Given the description of an element on the screen output the (x, y) to click on. 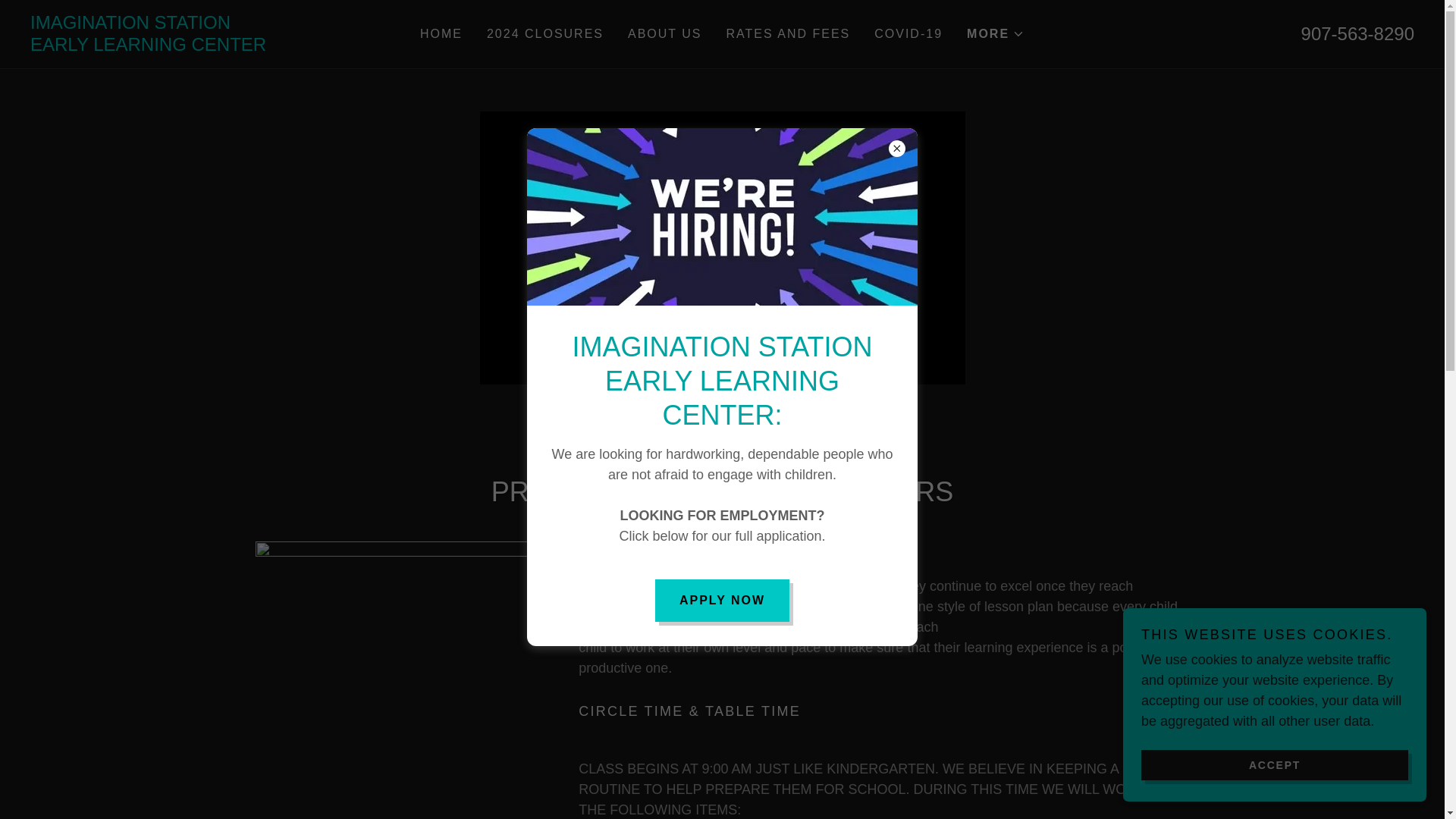
ABOUT US (664, 33)
RATES AND FEES (202, 46)
907-563-8290 (789, 33)
COVID-19 (1357, 33)
2024 CLOSURES (908, 33)
MORE (202, 46)
HOME (544, 33)
